Given the description of an element on the screen output the (x, y) to click on. 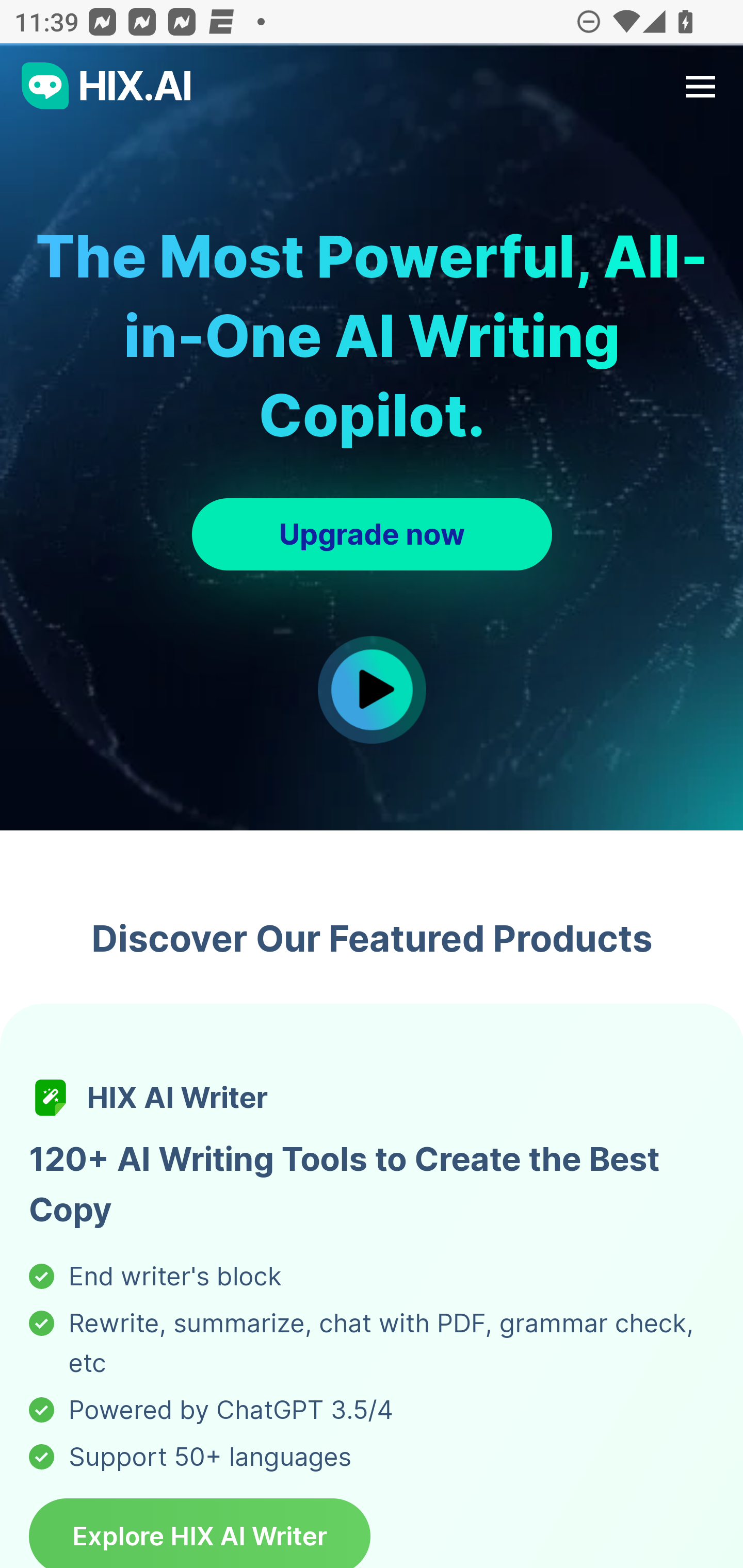
hix (107, 86)
Upgrade now (371, 534)
Explore HIX AI Writer (200, 1533)
